Given the description of an element on the screen output the (x, y) to click on. 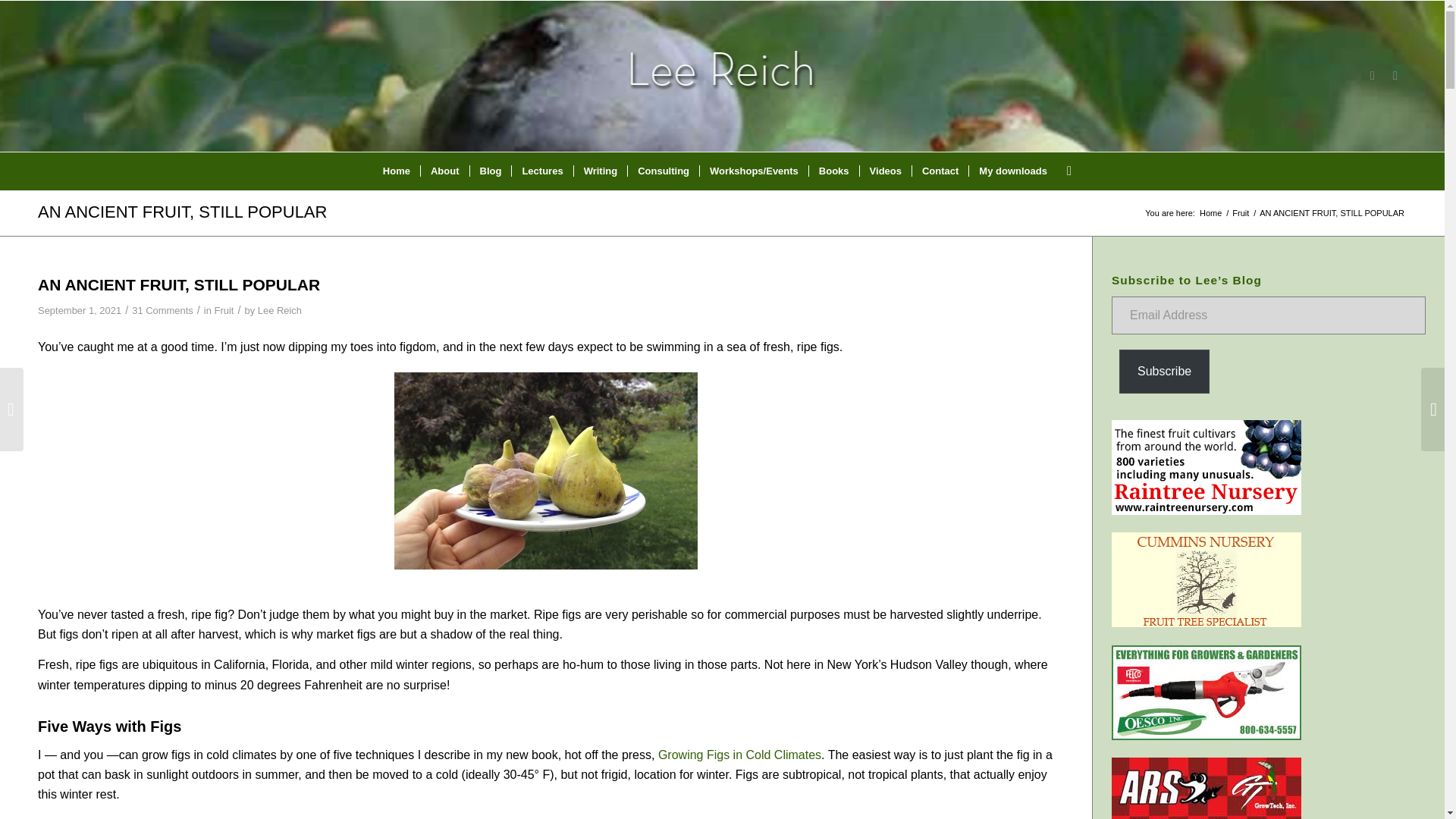
Growing Figs in Cold Climates (739, 754)
Contact (939, 171)
About (444, 171)
My downloads (1012, 171)
Fruit (224, 310)
Videos (885, 171)
Writing (600, 171)
Home (1210, 213)
AN ANCIENT FRUIT, STILL POPULAR (181, 211)
Books (833, 171)
Consulting (662, 171)
31 Comments (162, 310)
Lectures (541, 171)
Blog (490, 171)
Lee Reich (279, 310)
